Given the description of an element on the screen output the (x, y) to click on. 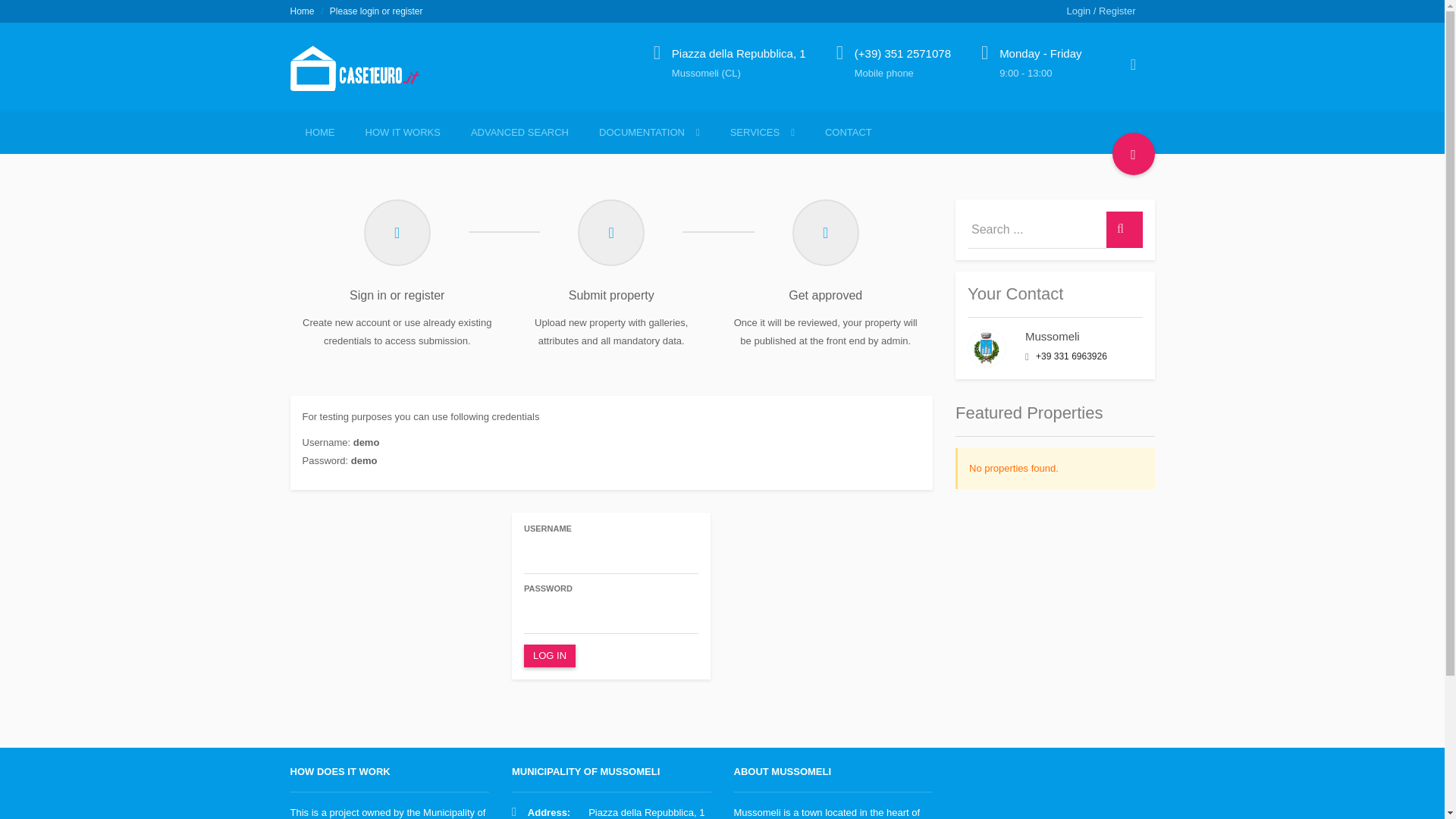
DOCUMENTATION (648, 132)
SERVICES (761, 132)
CONTACT (847, 132)
HOW IT WORKS (402, 132)
Mussomeli (1052, 336)
HOME (319, 132)
LOG IN (549, 656)
Home (301, 10)
Home (359, 76)
ADVANCED SEARCH (519, 132)
